Given the description of an element on the screen output the (x, y) to click on. 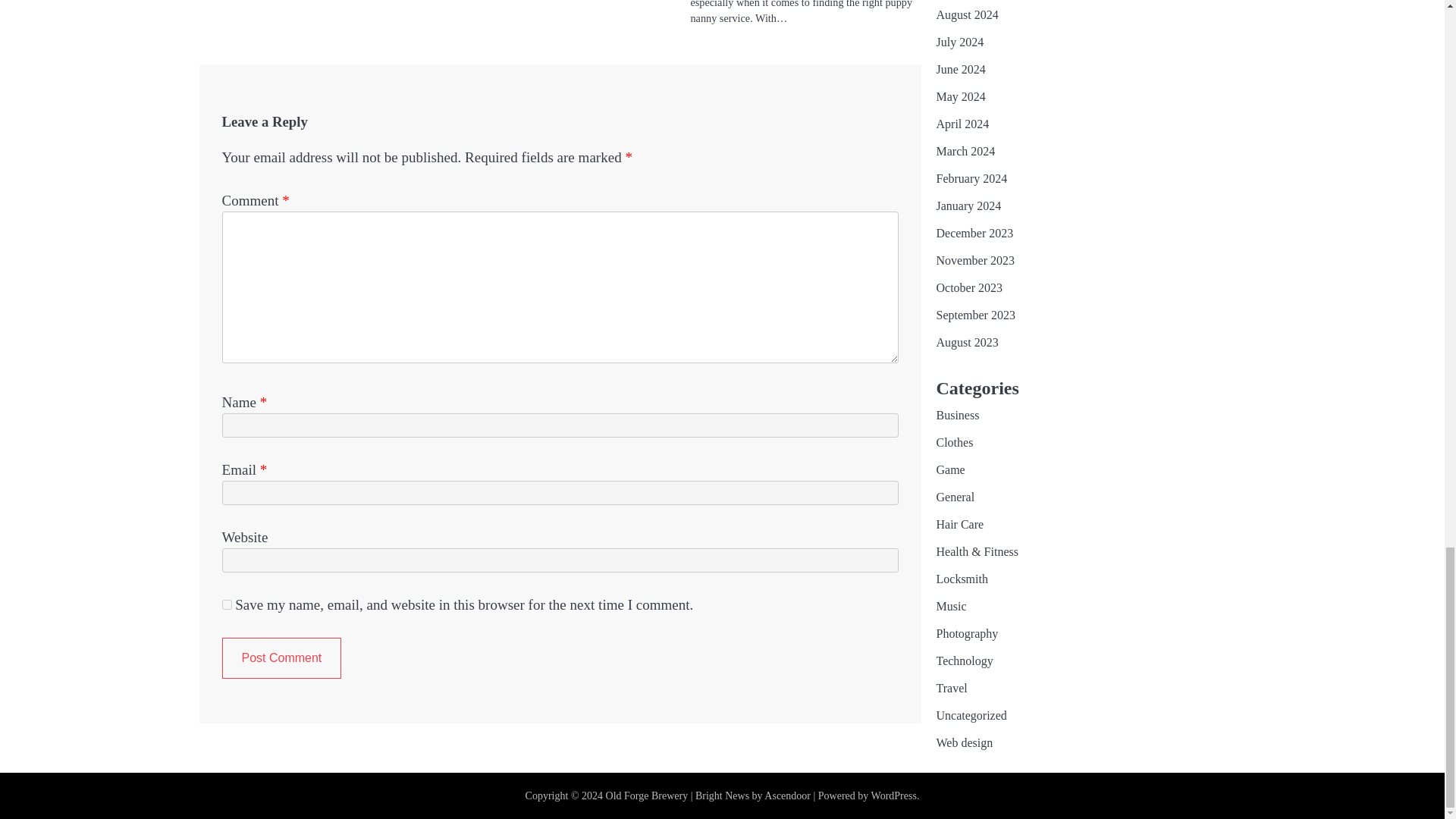
yes (226, 604)
Post Comment (280, 658)
Post Comment (280, 658)
